Given the description of an element on the screen output the (x, y) to click on. 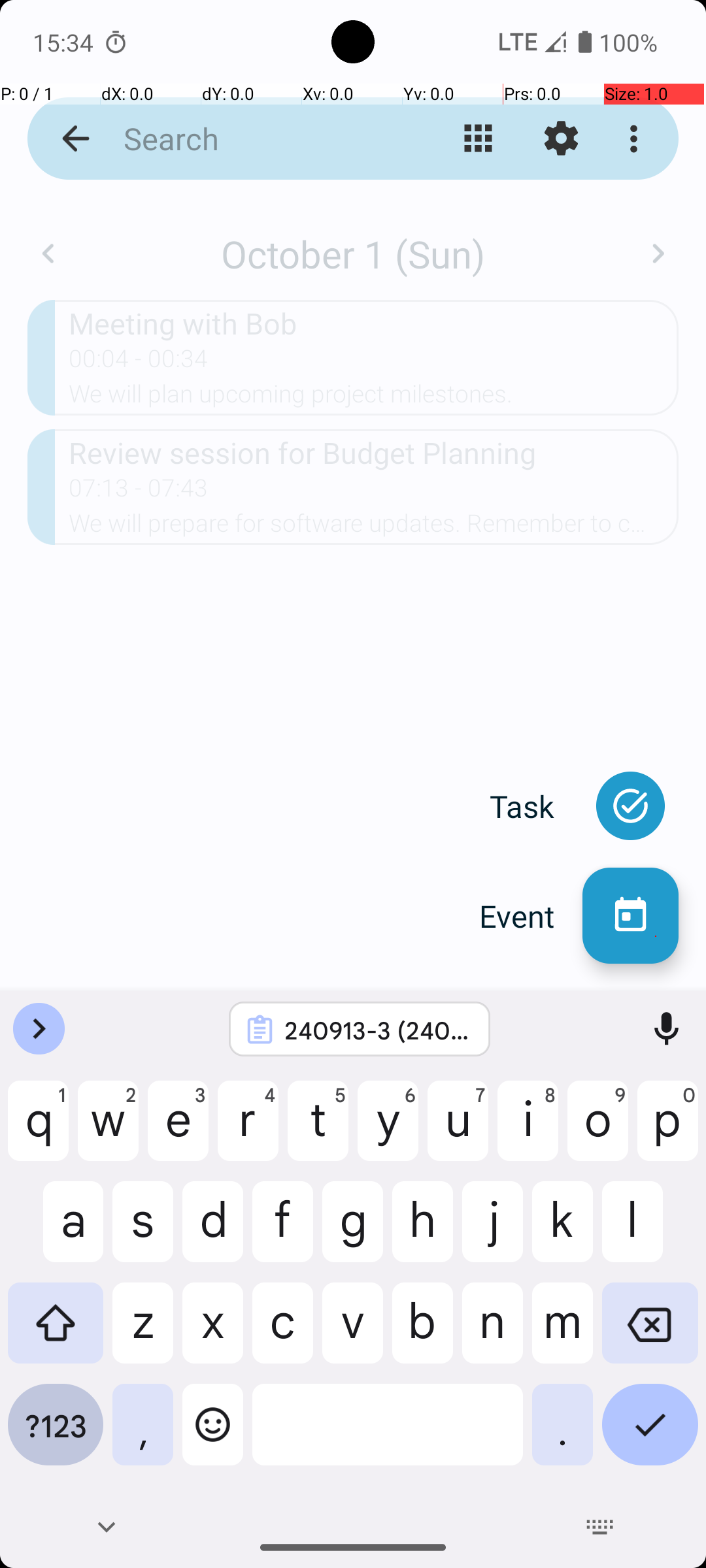
October 1 (Sun) Element type: android.widget.TextView (352, 253)
00:04 - 00:34 Element type: android.widget.TextView (137, 362)
We will plan upcoming project milestones. Element type: android.widget.TextView (373, 397)
07:13 - 07:43 Element type: android.widget.TextView (137, 491)
We will prepare for software updates. Remember to confirm attendance. Element type: android.widget.TextView (373, 526)
240913-3 (240906-2的from base对照组) Element type: android.widget.TextView (376, 1029)
